Given the description of an element on the screen output the (x, y) to click on. 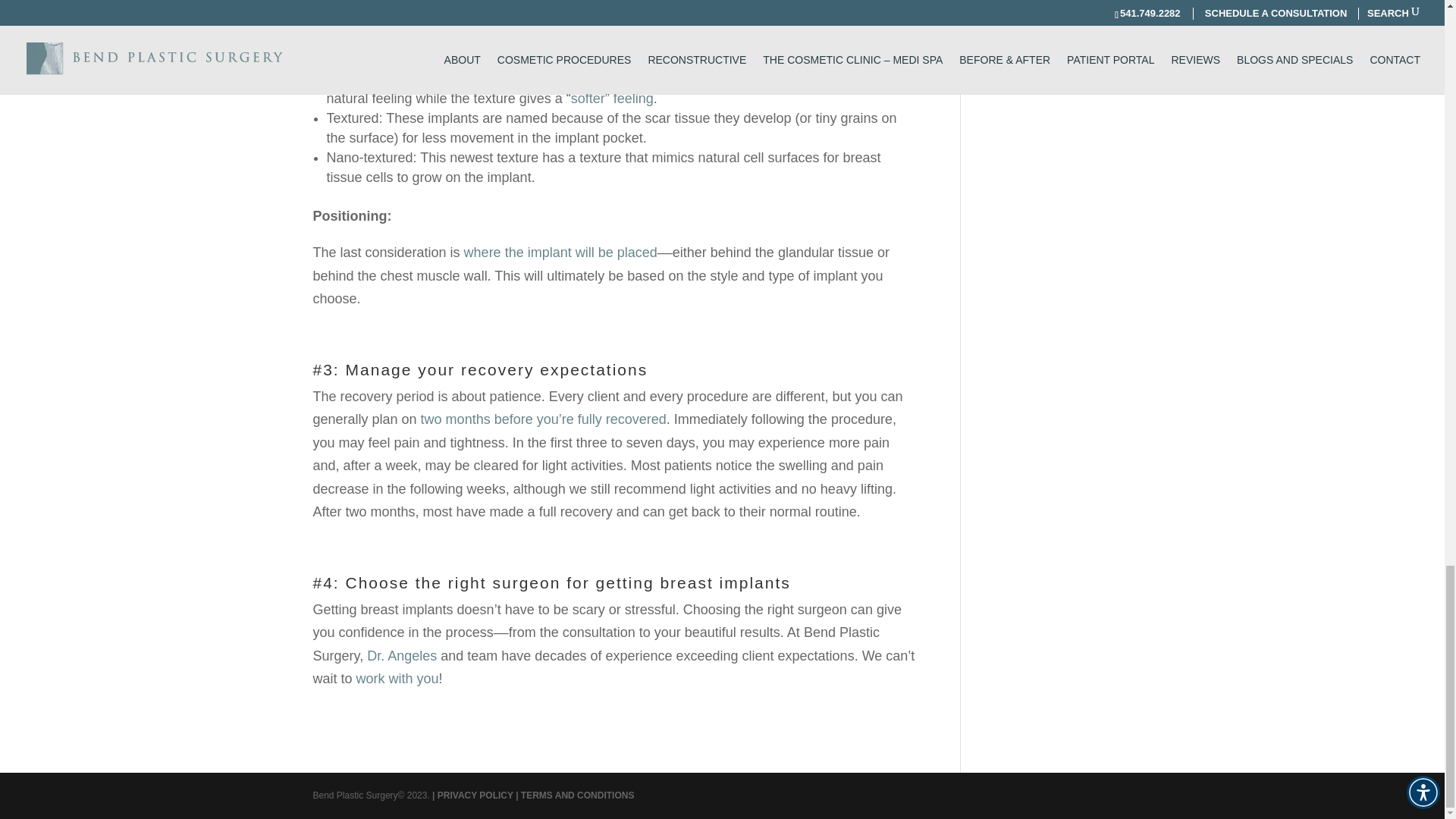
work with you (397, 678)
where the implant will be placed (561, 252)
Dr. Angeles (401, 655)
